Given the description of an element on the screen output the (x, y) to click on. 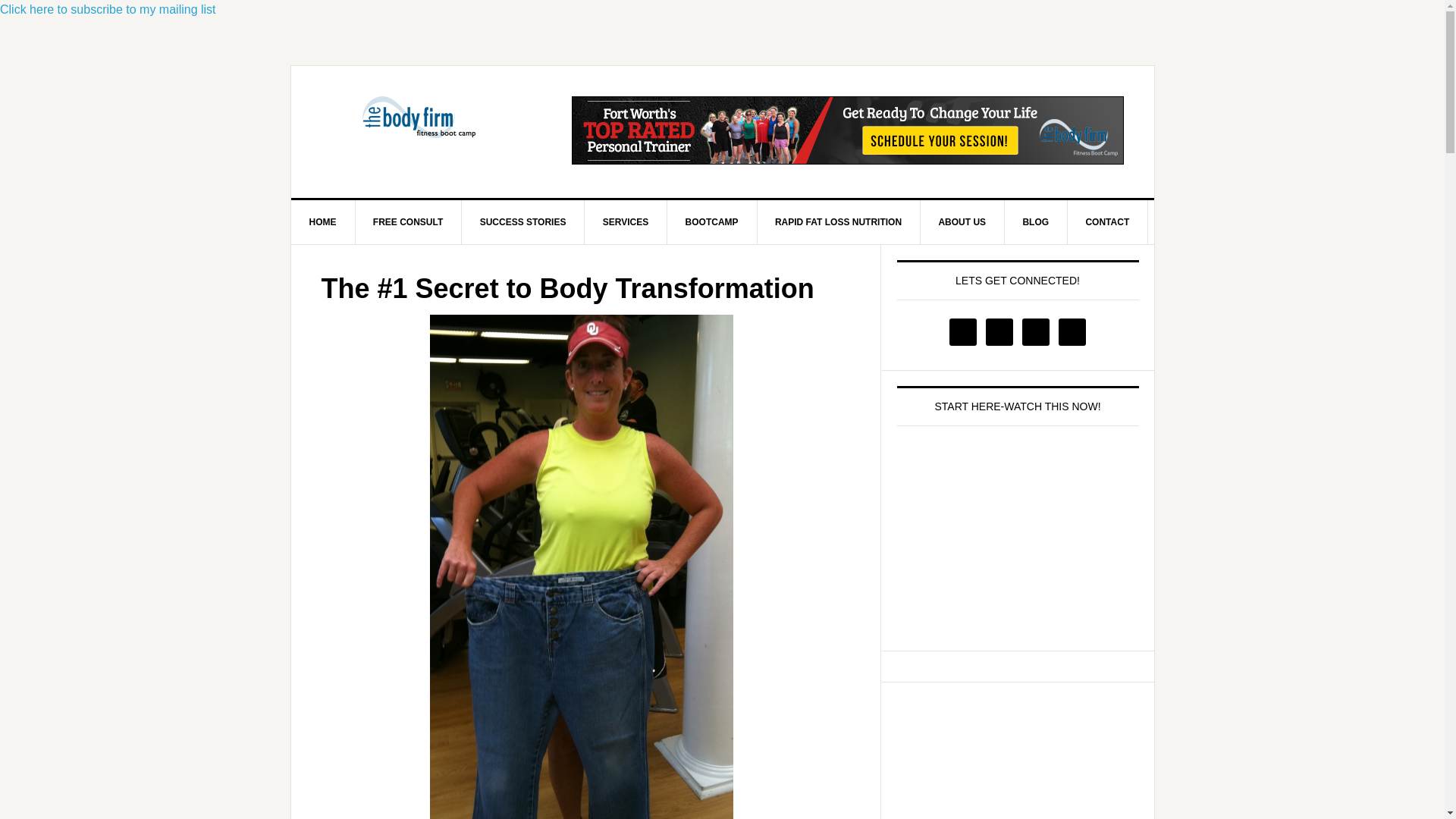
BLOG (1035, 221)
HOME (323, 221)
SERVICES (625, 221)
CONTACT (1107, 221)
SUCCESS STORIES (523, 221)
ABOUT US (962, 221)
FREE CONSULT (408, 221)
FORT WORTH PERSONAL TRAINER PROGRAMS AND BOOTCAMP (419, 130)
RAPID FAT LOSS NUTRITION (838, 221)
BOOTCAMP (711, 221)
Click here to subscribe to my mailing list (107, 9)
